Given the description of an element on the screen output the (x, y) to click on. 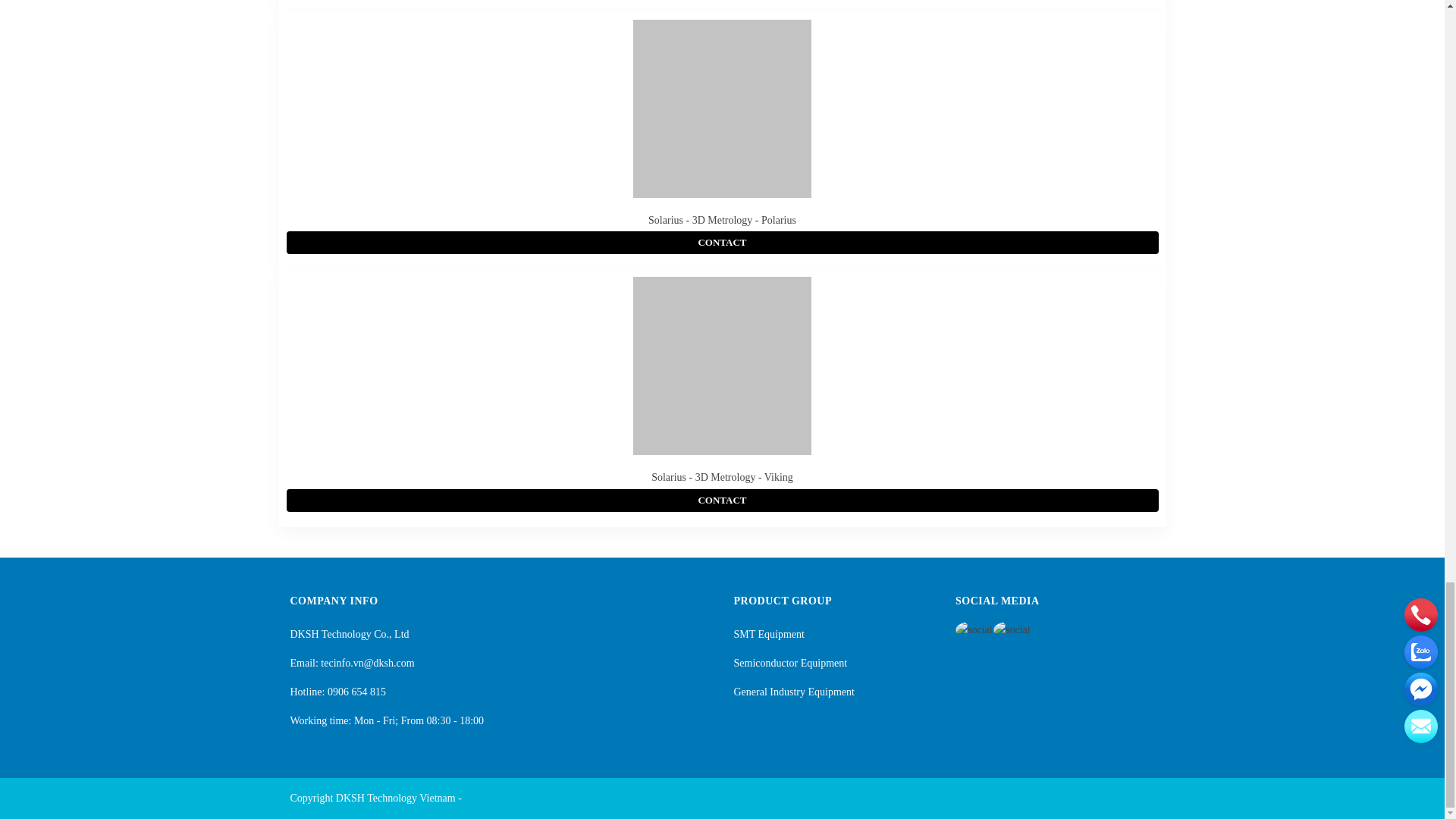
Solarius - 3D Metrology - Viking (721, 477)
Solarius - 3D Metrology - Polarius (721, 220)
Solarius - 3D Metrology - Polarius (721, 220)
